Given the description of an element on the screen output the (x, y) to click on. 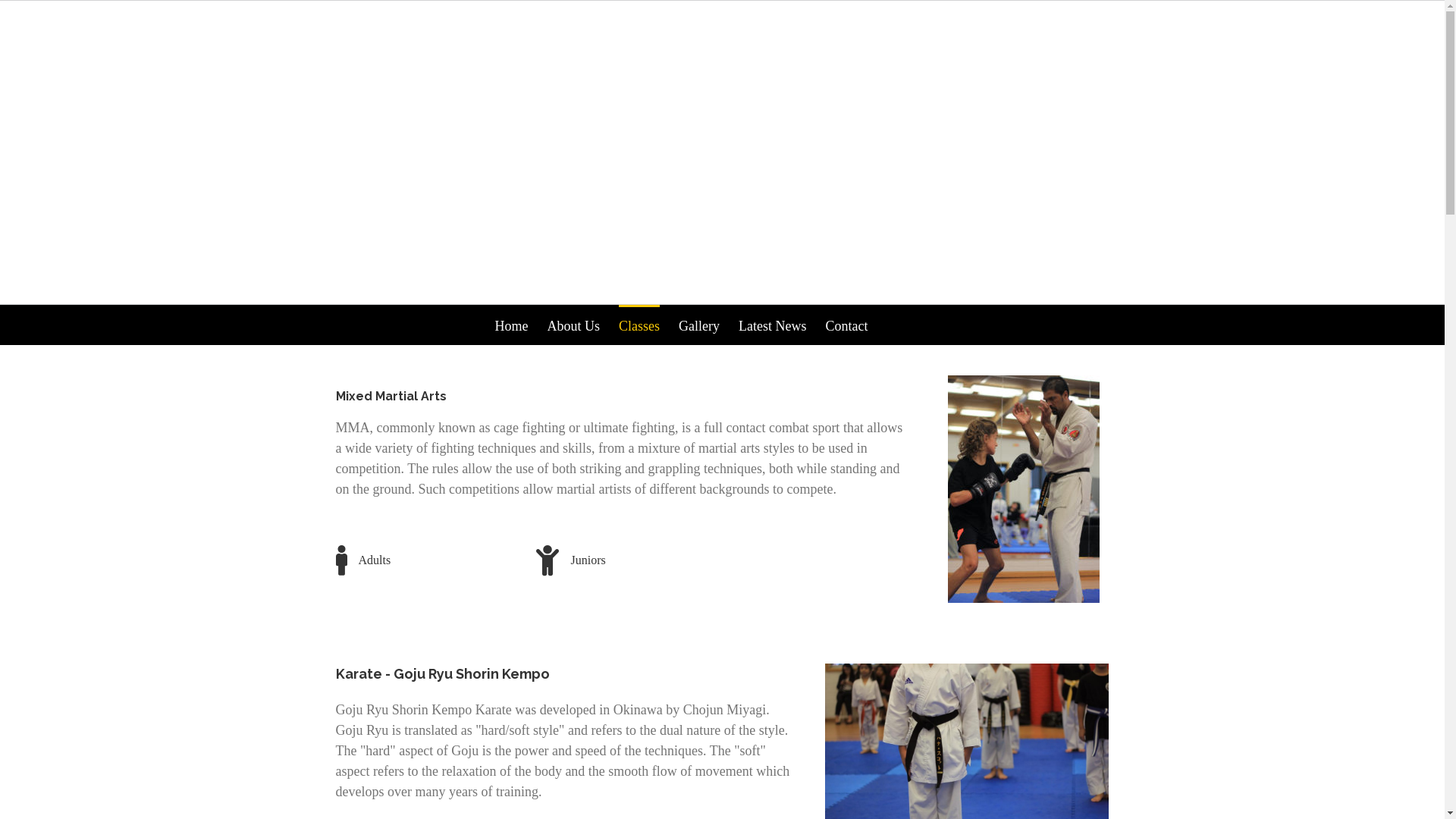
Gallery Element type: text (698, 324)
Classes Element type: text (638, 324)
gallery 7 Element type: hover (1023, 488)
Latest News Element type: text (772, 324)
Home Element type: text (510, 324)
Contact Element type: text (846, 324)
About Us Element type: text (573, 324)
